Given the description of an element on the screen output the (x, y) to click on. 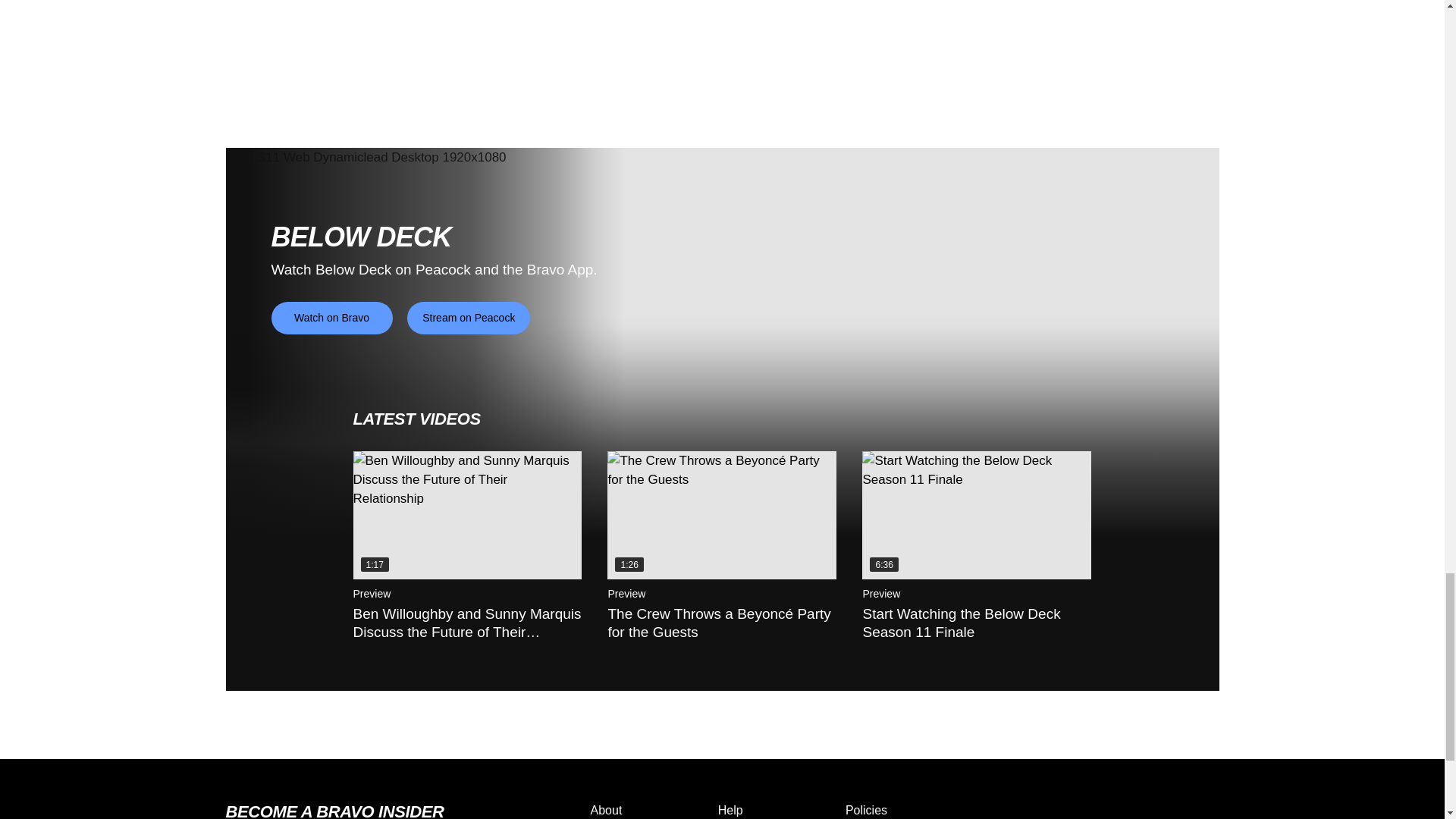
Start Watching the Below Deck Season 11 Finale (975, 515)
